Given the description of an element on the screen output the (x, y) to click on. 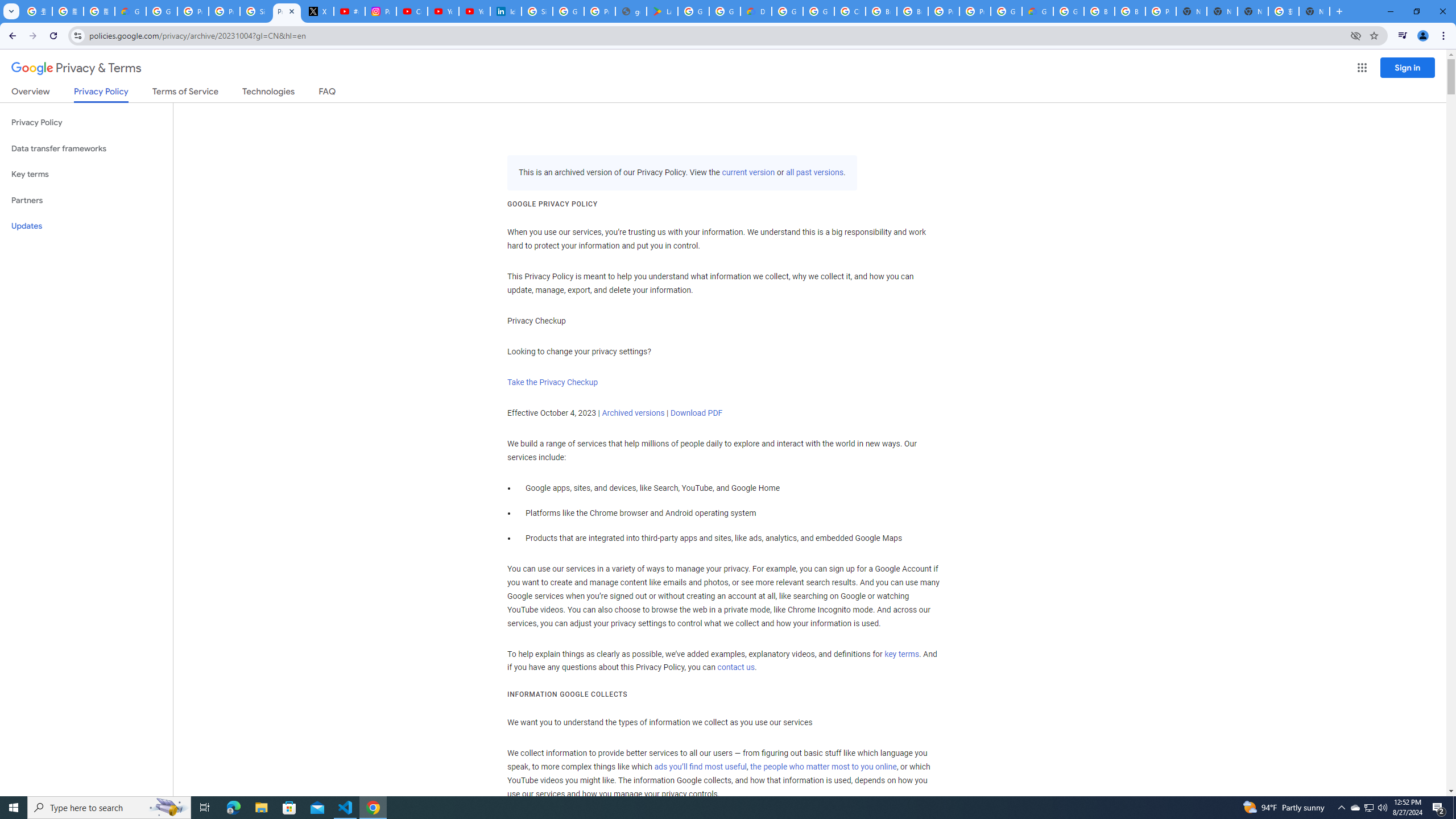
Last Shelter: Survival - Apps on Google Play (662, 11)
Technologies (268, 93)
google_privacy_policy_en.pdf (631, 11)
Privacy Help Center - Policies Help (192, 11)
Privacy Help Center - Policies Help (223, 11)
New Tab (1190, 11)
Data transfer frameworks (86, 148)
Browse Chrome as a guest - Computer - Google Chrome Help (881, 11)
Download PDF (695, 412)
X (318, 11)
